Given the description of an element on the screen output the (x, y) to click on. 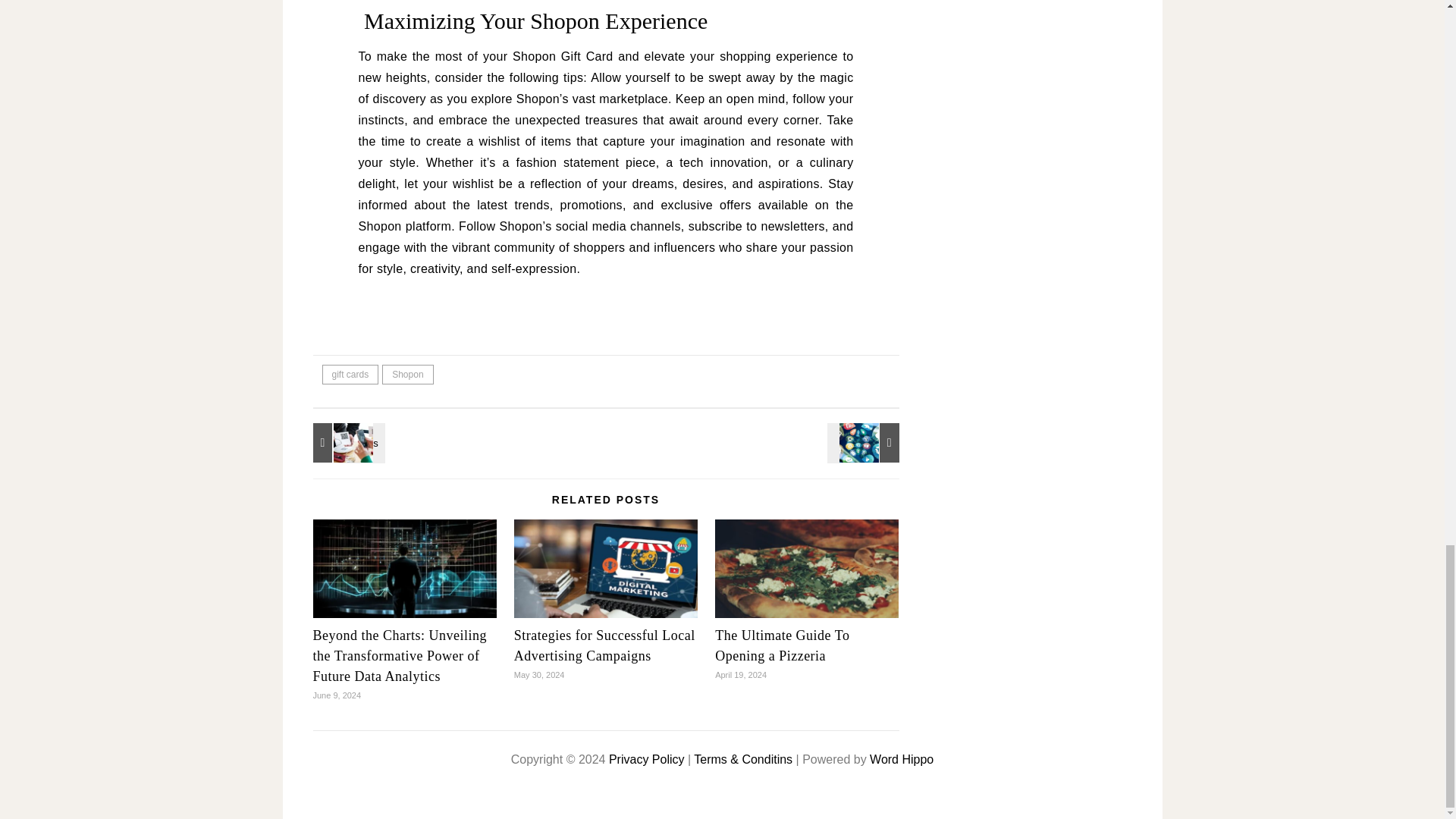
Unlocking the Power of QR Codes: A Modern-Day Marvel (346, 442)
Enhance Your Brand in the Digital Market With SMM Panel (865, 442)
gift cards (349, 374)
Shopon (406, 374)
